Given the description of an element on the screen output the (x, y) to click on. 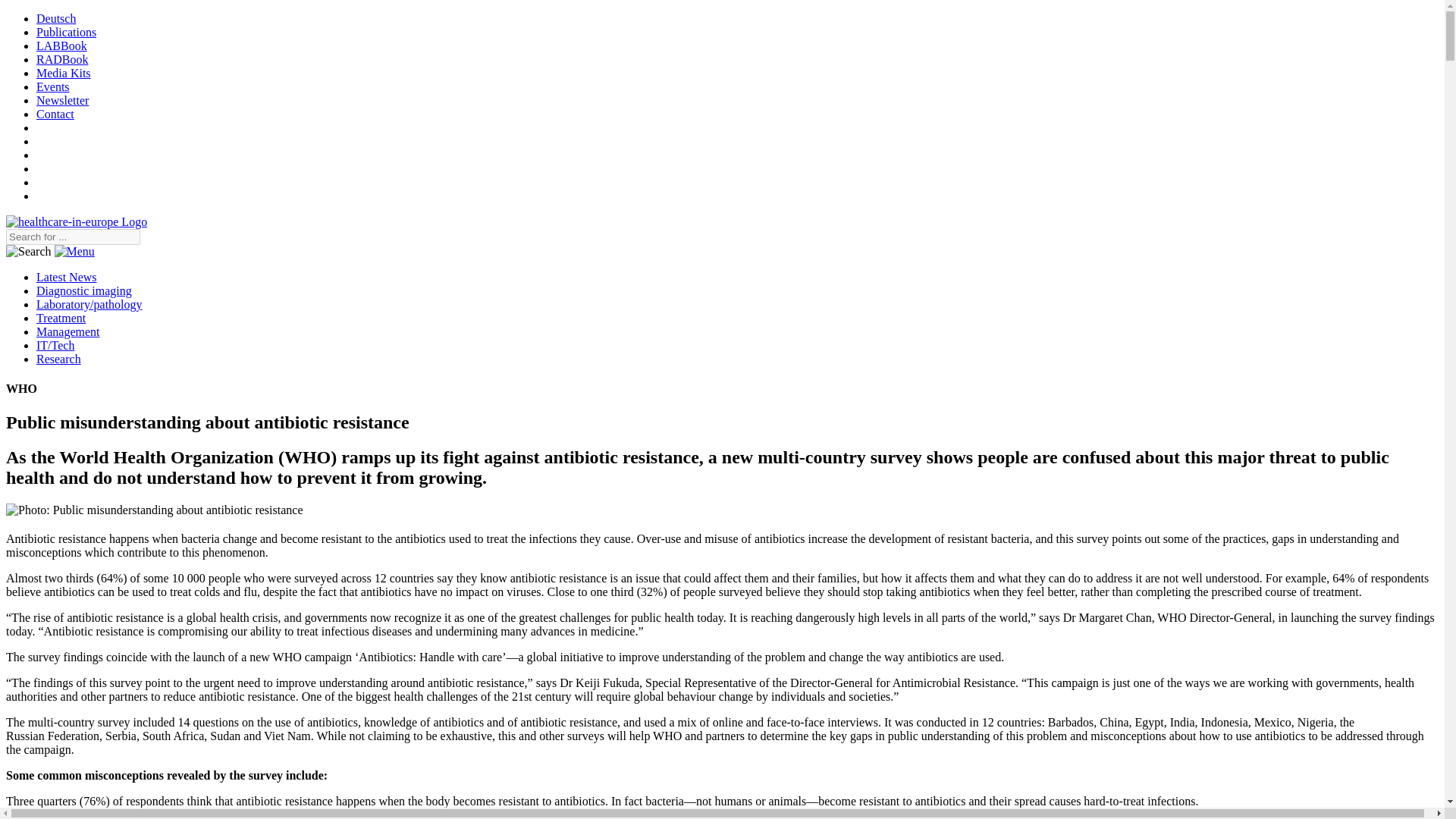
Latest News (66, 277)
LABBook (61, 45)
Treatment (60, 318)
Newsletter (62, 100)
Research (58, 358)
RADBook (61, 59)
Deutsch (55, 18)
Contact (55, 113)
Events (52, 86)
Media Kits (63, 72)
Publications (66, 31)
Diagnostic imaging (84, 290)
Management (68, 331)
